Given the description of an element on the screen output the (x, y) to click on. 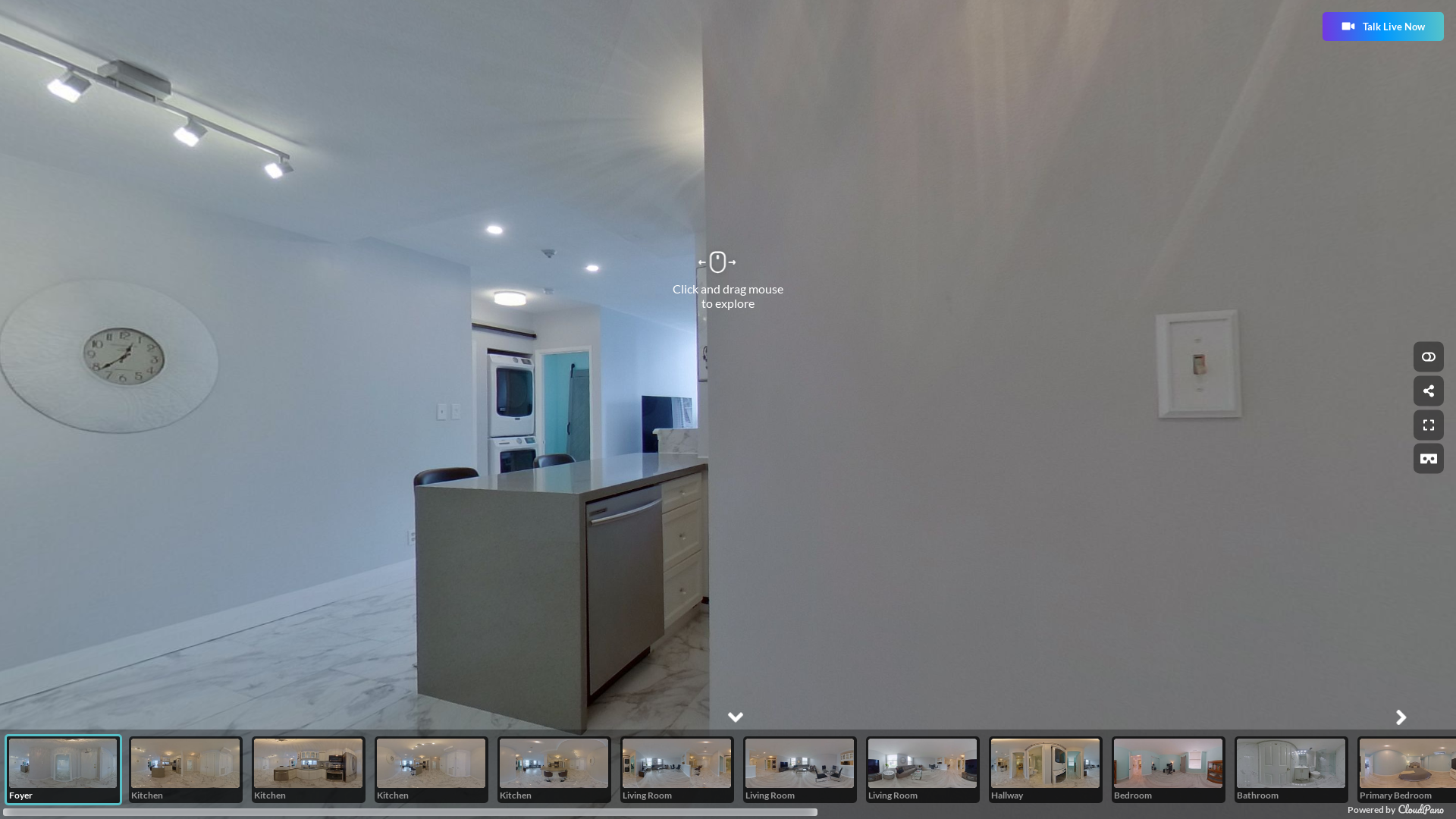
Share Element type: hover (1428, 390)
Fullscreen Element type: hover (1428, 424)
Talk Live Now Element type: text (1382, 26)
Hide controls Element type: hover (1428, 356)
Virtual Reality Element type: hover (1428, 458)
